Given the description of an element on the screen output the (x, y) to click on. 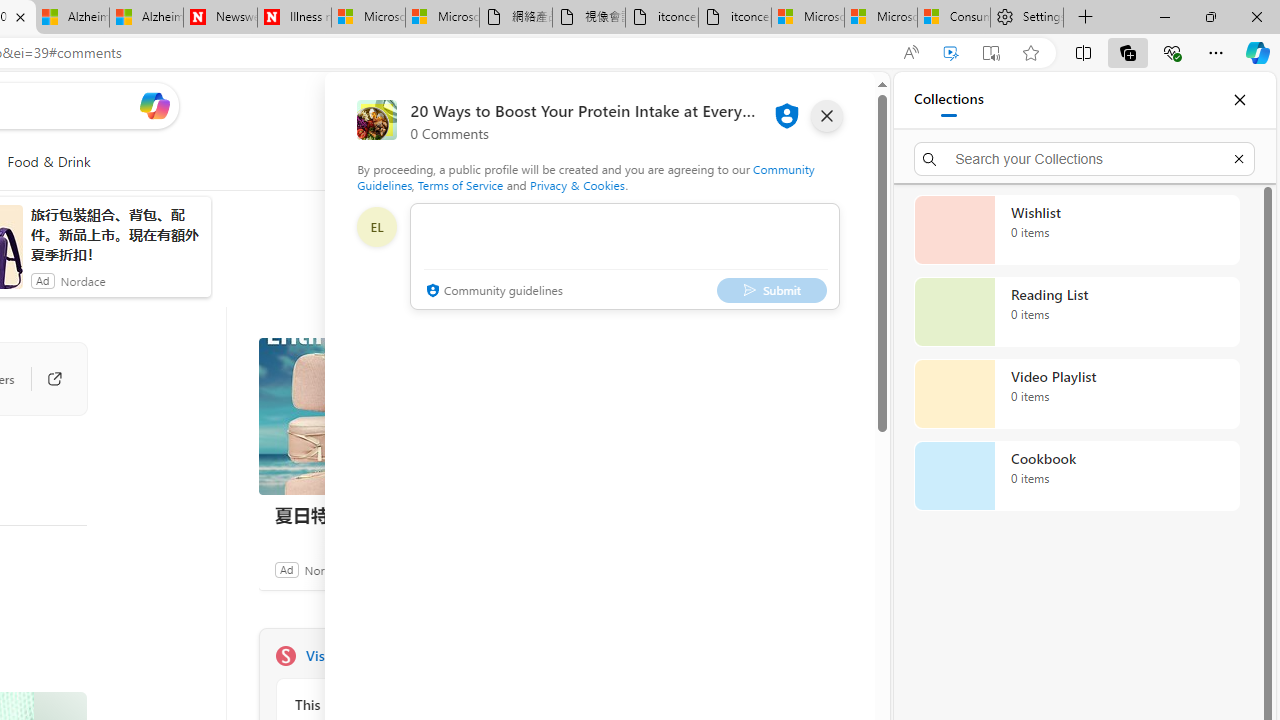
Wishlist collection, 0 items (1076, 229)
Community Guidelines (586, 176)
Privacy & Cookies (577, 184)
Terms of Service (461, 184)
Go to publisher's site (44, 378)
Illness news & latest pictures from Newsweek.com (294, 17)
Submit (771, 290)
Newsweek - News, Analysis, Politics, Business, Technology (220, 17)
